Given the description of an element on the screen output the (x, y) to click on. 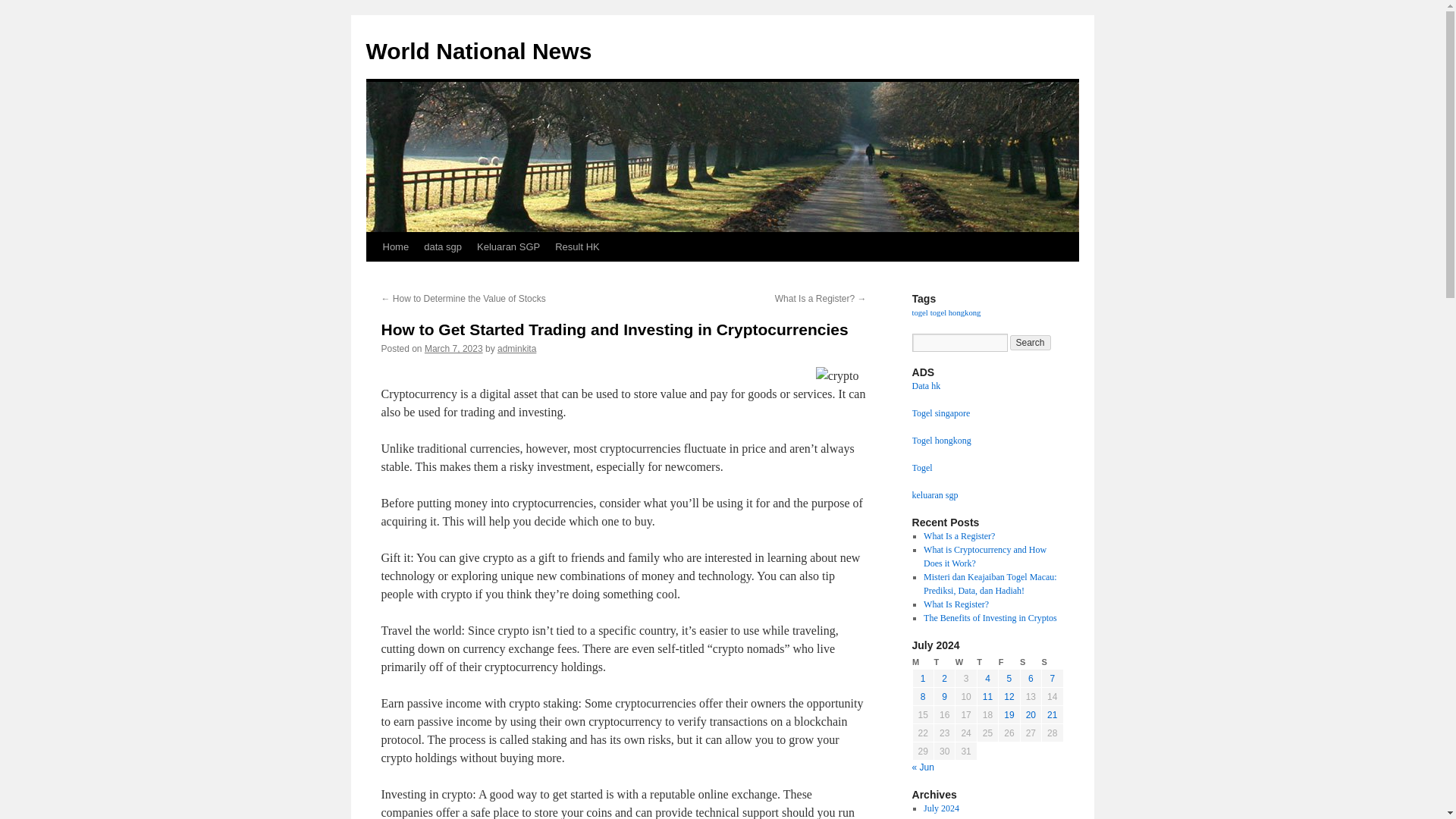
The Benefits of Investing in Cryptos (990, 617)
11 (987, 696)
adminkita (516, 348)
12 (1008, 696)
What Is a Register? (958, 535)
Search (1030, 342)
20 (1030, 715)
Togel singapore (940, 412)
Home (395, 246)
Saturday (1030, 662)
Togel hongkong (941, 439)
World National News (478, 50)
Thursday (986, 662)
Tuesday (944, 662)
